Given the description of an element on the screen output the (x, y) to click on. 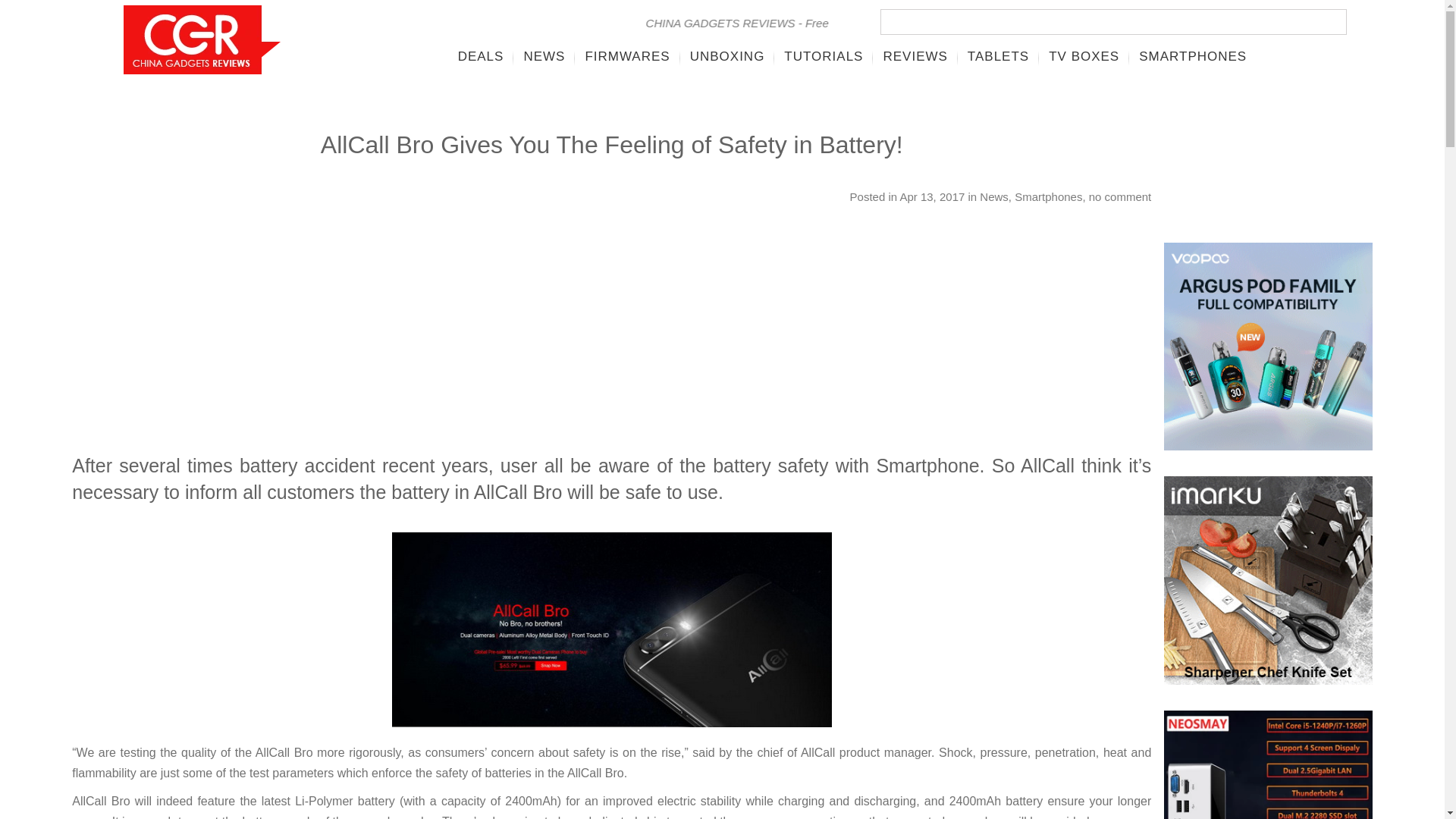
Smartphones (1047, 196)
TUTORIALS (823, 56)
NEWS (544, 56)
FIRMWARES (627, 56)
TABLETS (998, 56)
News (994, 196)
DEALS (480, 56)
SMARTPHONES (1192, 56)
UNBOXING (726, 56)
REVIEWS (914, 56)
TV BOXES (1084, 56)
